Given the description of an element on the screen output the (x, y) to click on. 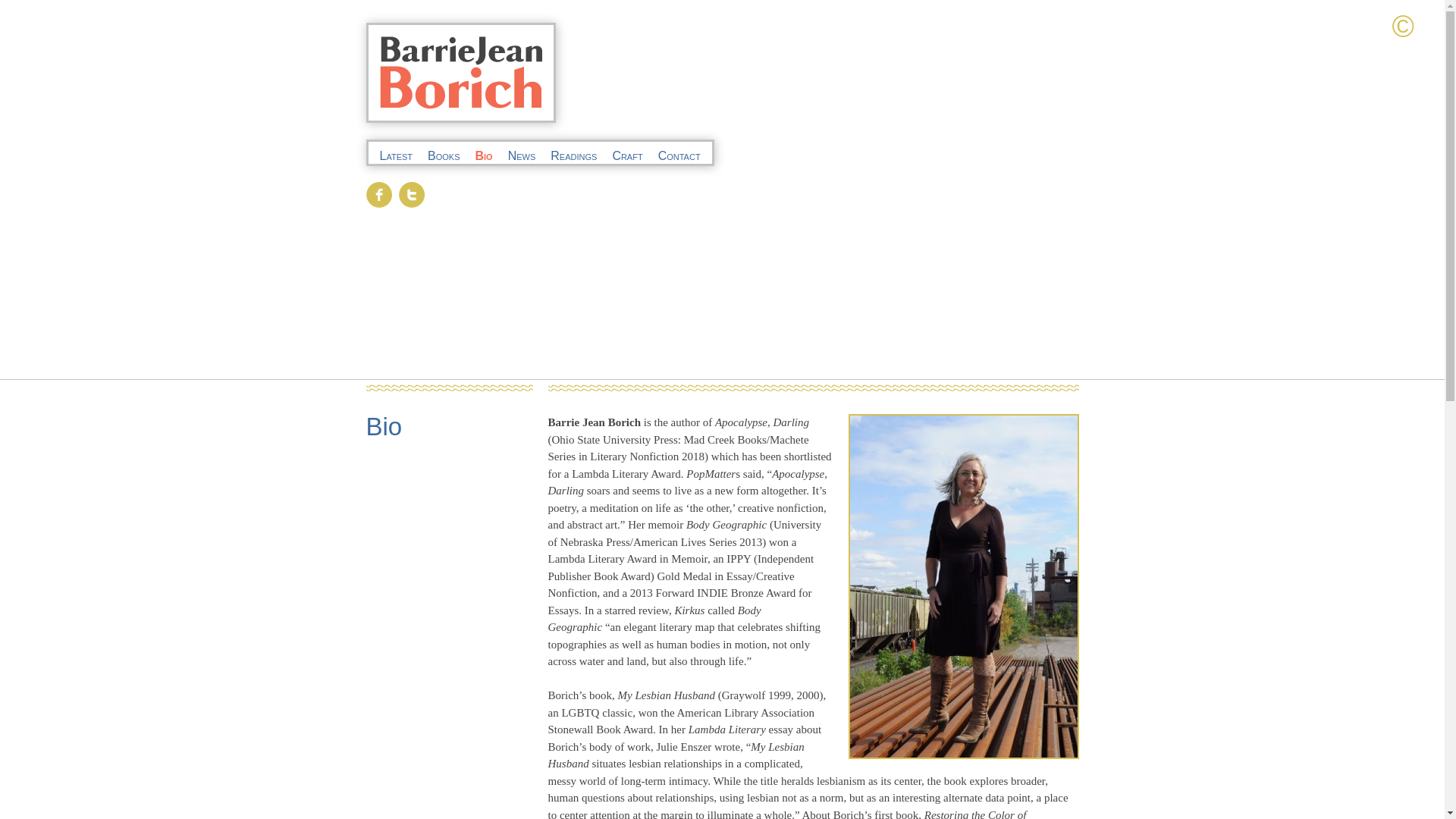
News (521, 154)
Barrie Jean Borich (448, 63)
Books (444, 154)
Bio (383, 426)
Latest (395, 154)
Readings (573, 154)
Bio (483, 154)
Facebook (379, 195)
Craft (626, 154)
Twitter (411, 195)
